Given the description of an element on the screen output the (x, y) to click on. 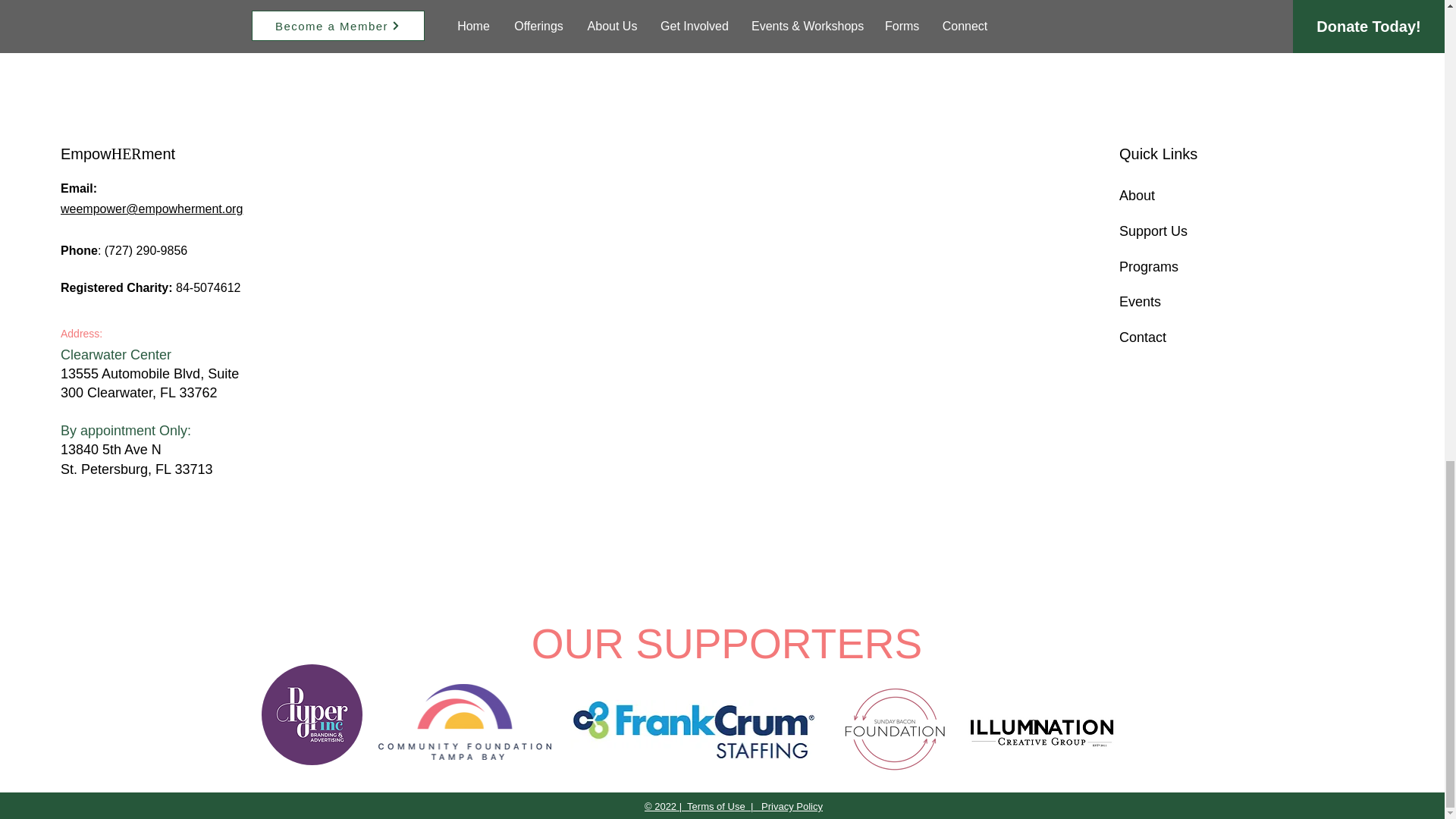
Events (1139, 301)
Support Us (1153, 231)
About (1136, 195)
Contact (1142, 337)
Programs (1148, 266)
